Given the description of an element on the screen output the (x, y) to click on. 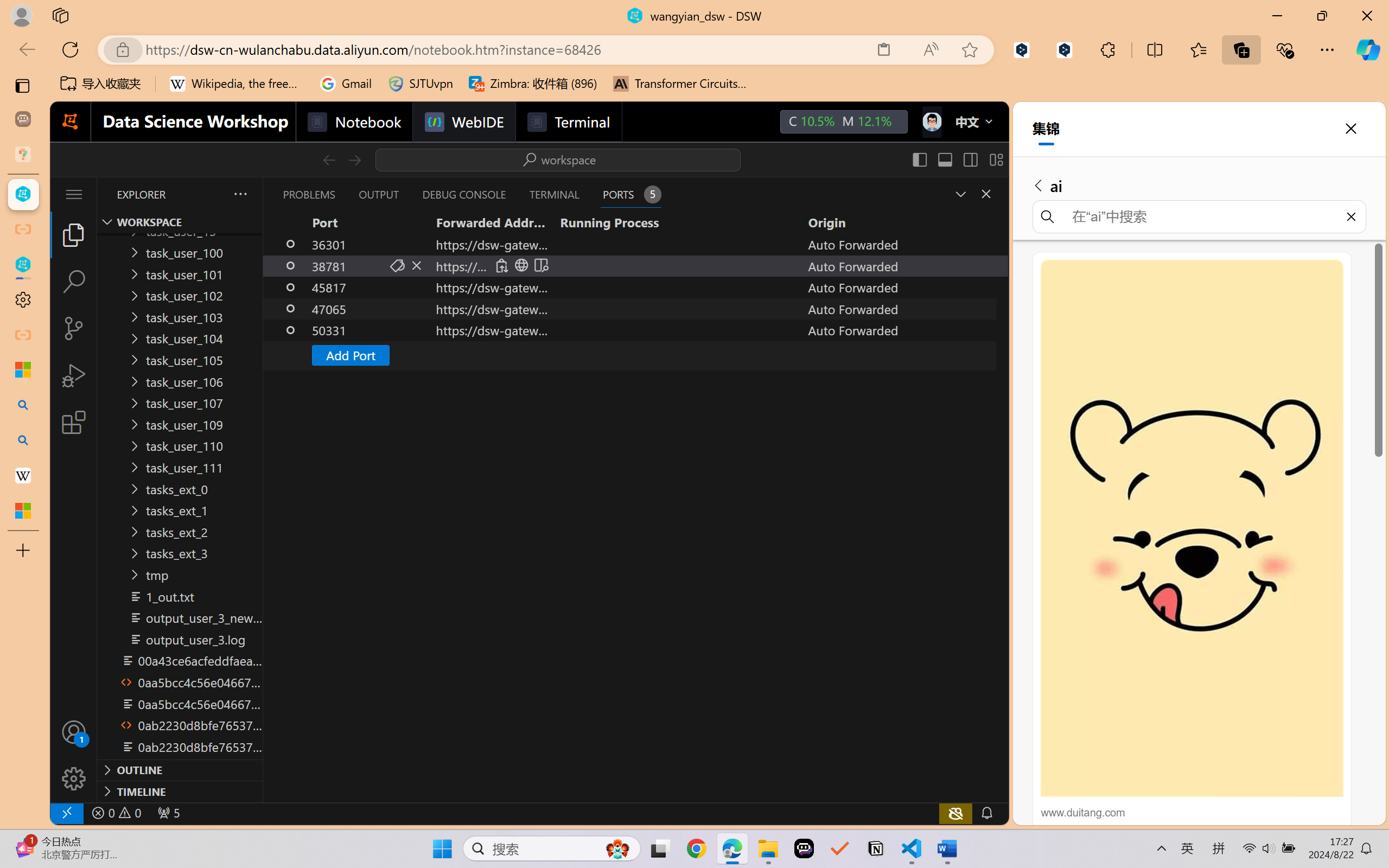
Class: actions-container (520, 265)
Copilot (Ctrl+Shift+.) (1368, 49)
Preview in Editor (540, 265)
Notifications (986, 812)
